Given the description of an element on the screen output the (x, y) to click on. 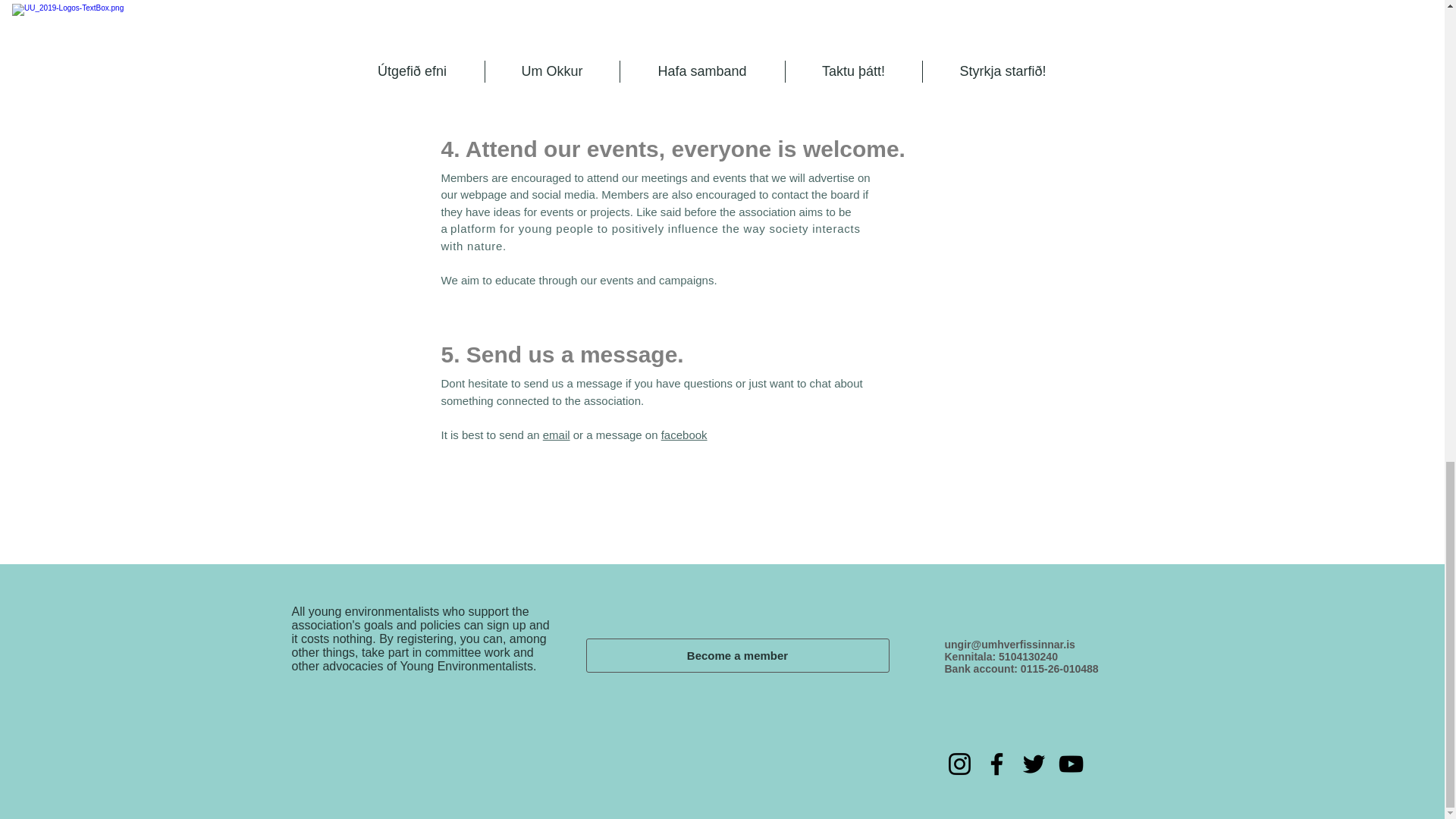
High school presentations committee (563, 1)
Nature conservation committee (532, 48)
Become a member (736, 655)
email (556, 433)
Fish farming committee (532, 78)
Global committee (532, 20)
facebook (684, 433)
